Given the description of an element on the screen output the (x, y) to click on. 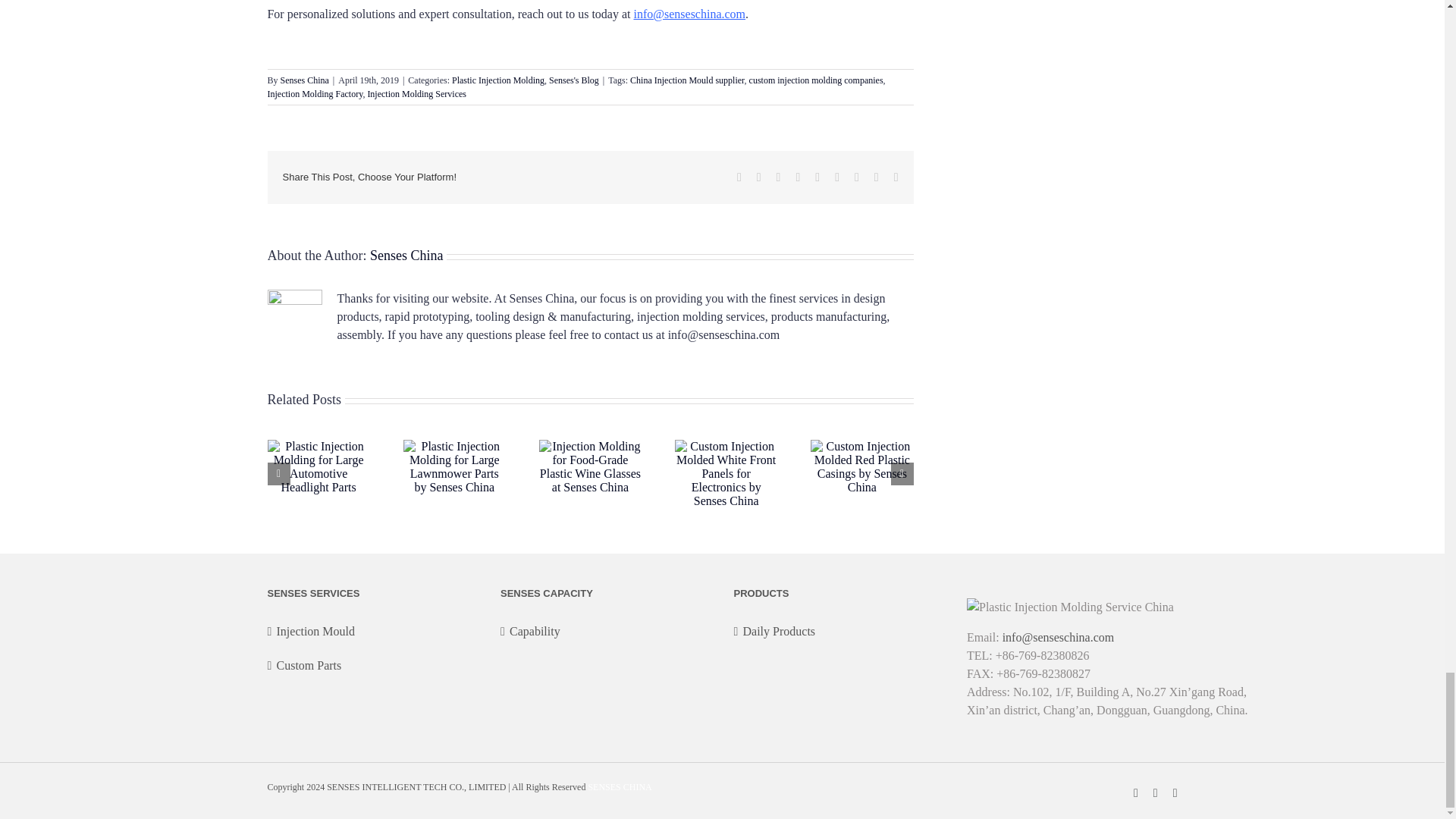
Posts by Senses China (305, 80)
